Given the description of an element on the screen output the (x, y) to click on. 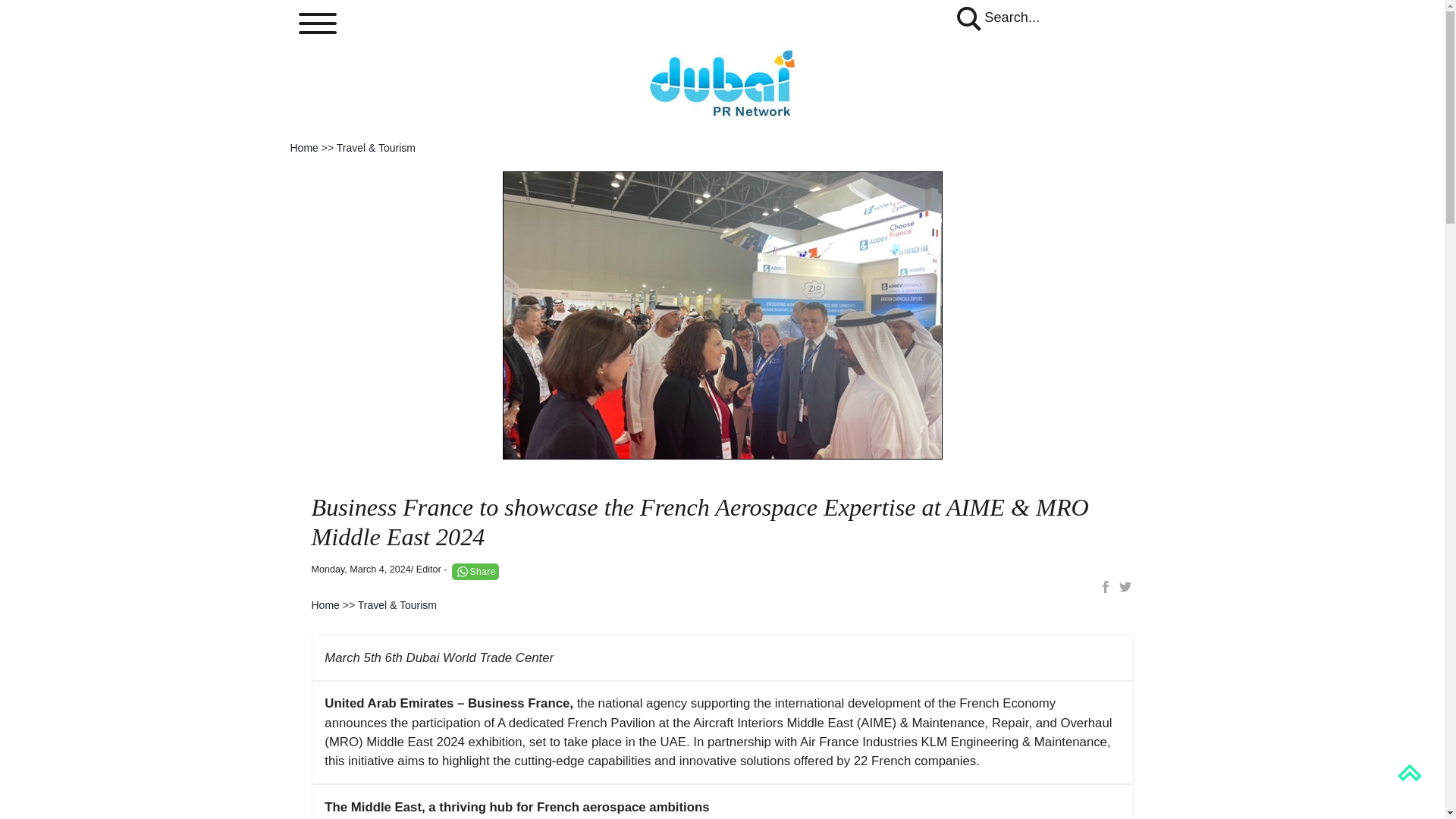
Twitter (1124, 586)
Home (325, 604)
Share (475, 571)
Home (303, 147)
Search... (997, 17)
Facebook (1105, 586)
